Given the description of an element on the screen output the (x, y) to click on. 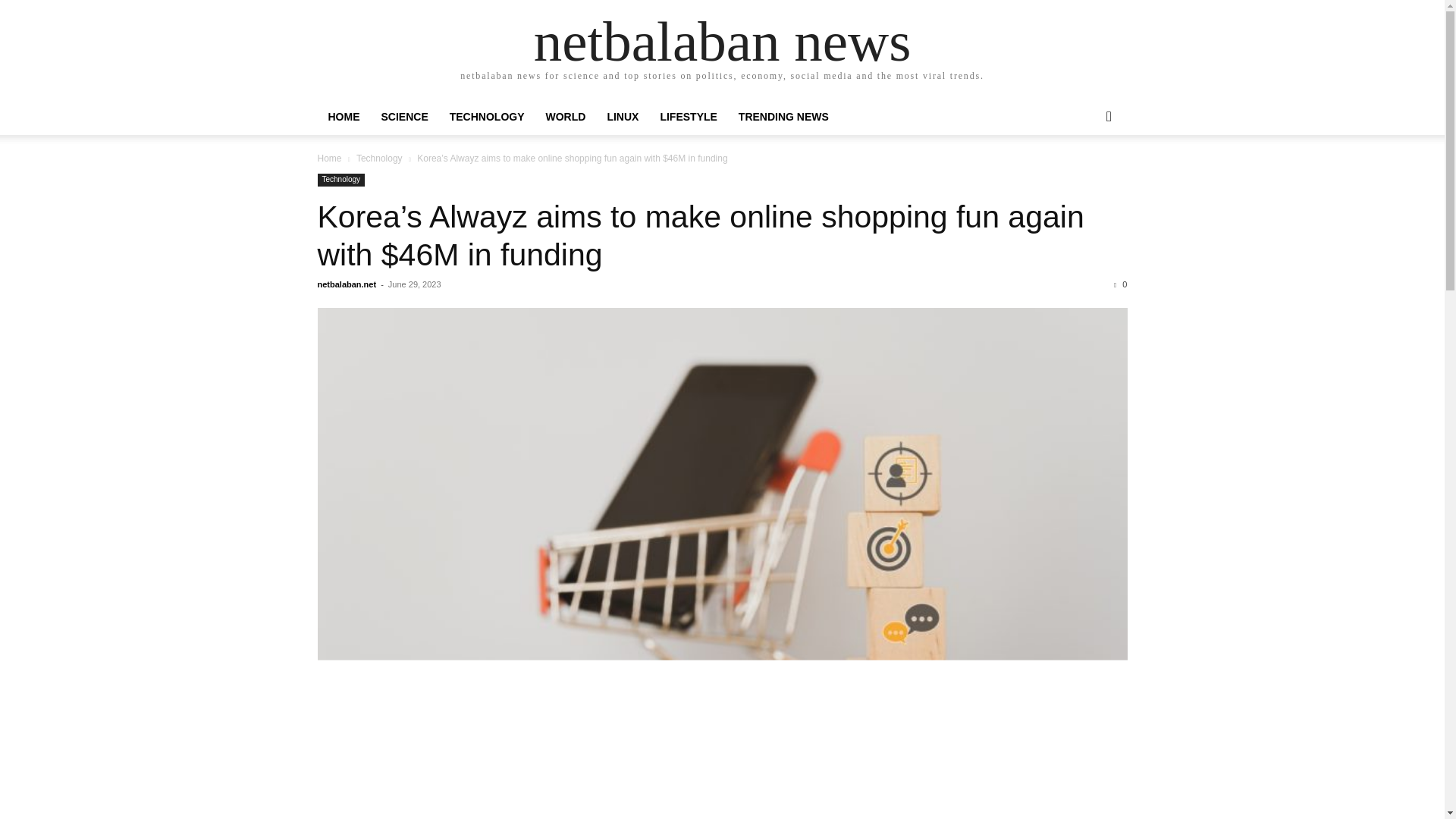
Technology (379, 158)
Technology (341, 179)
TECHNOLOGY (487, 116)
WORLD (565, 116)
LINUX (622, 116)
LIFESTYLE (687, 116)
HOME (343, 116)
TRENDING NEWS (784, 116)
netbalaban news (722, 41)
0 (1119, 284)
